Given the description of an element on the screen output the (x, y) to click on. 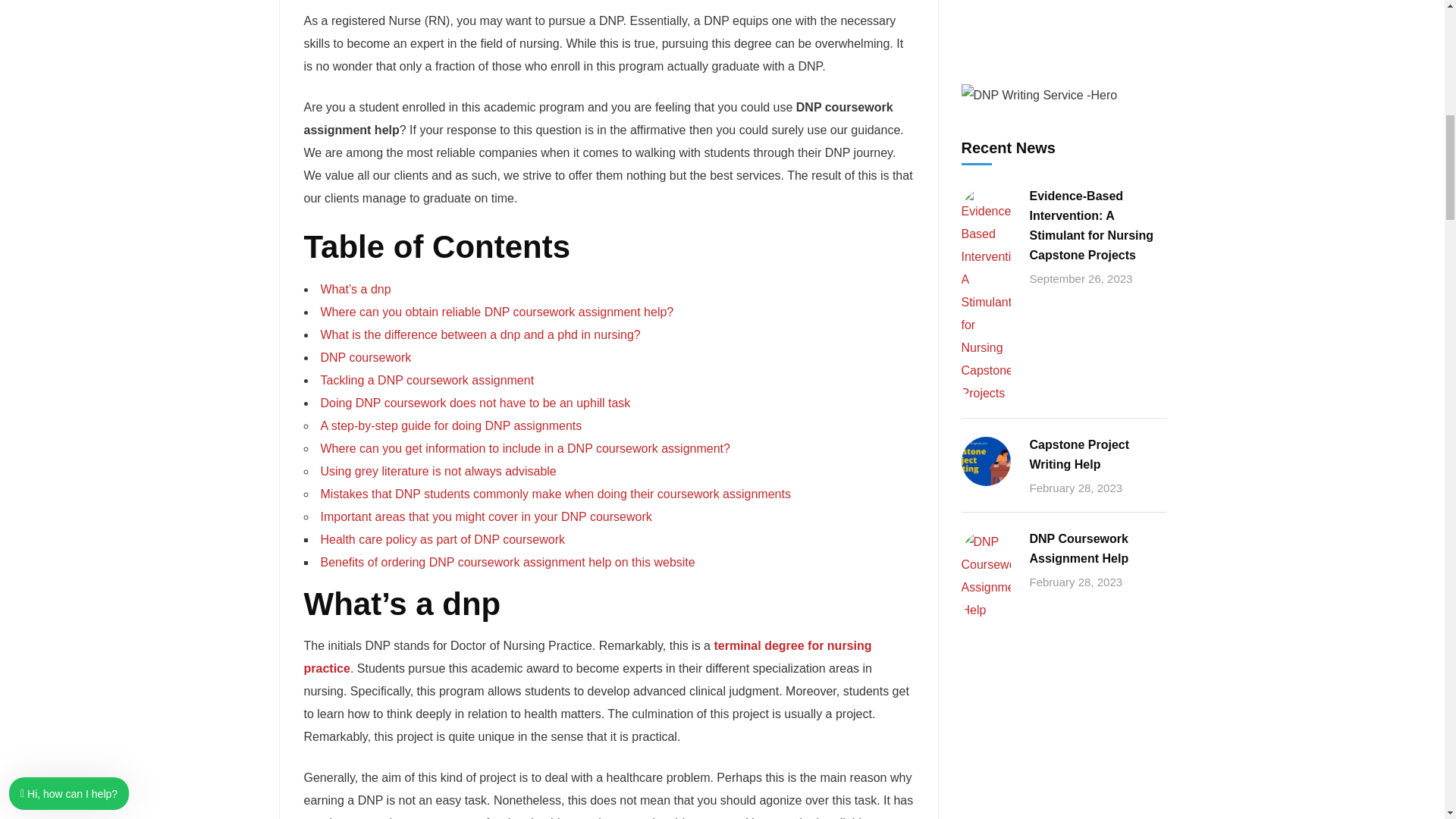
What is the difference between a dnp and a phd in nursing? (480, 334)
DNP coursework (365, 357)
Doing DNP coursework does not have to be an uphill task (475, 402)
Tackling a DNP coursework assignment (427, 379)
